Given the description of an element on the screen output the (x, y) to click on. 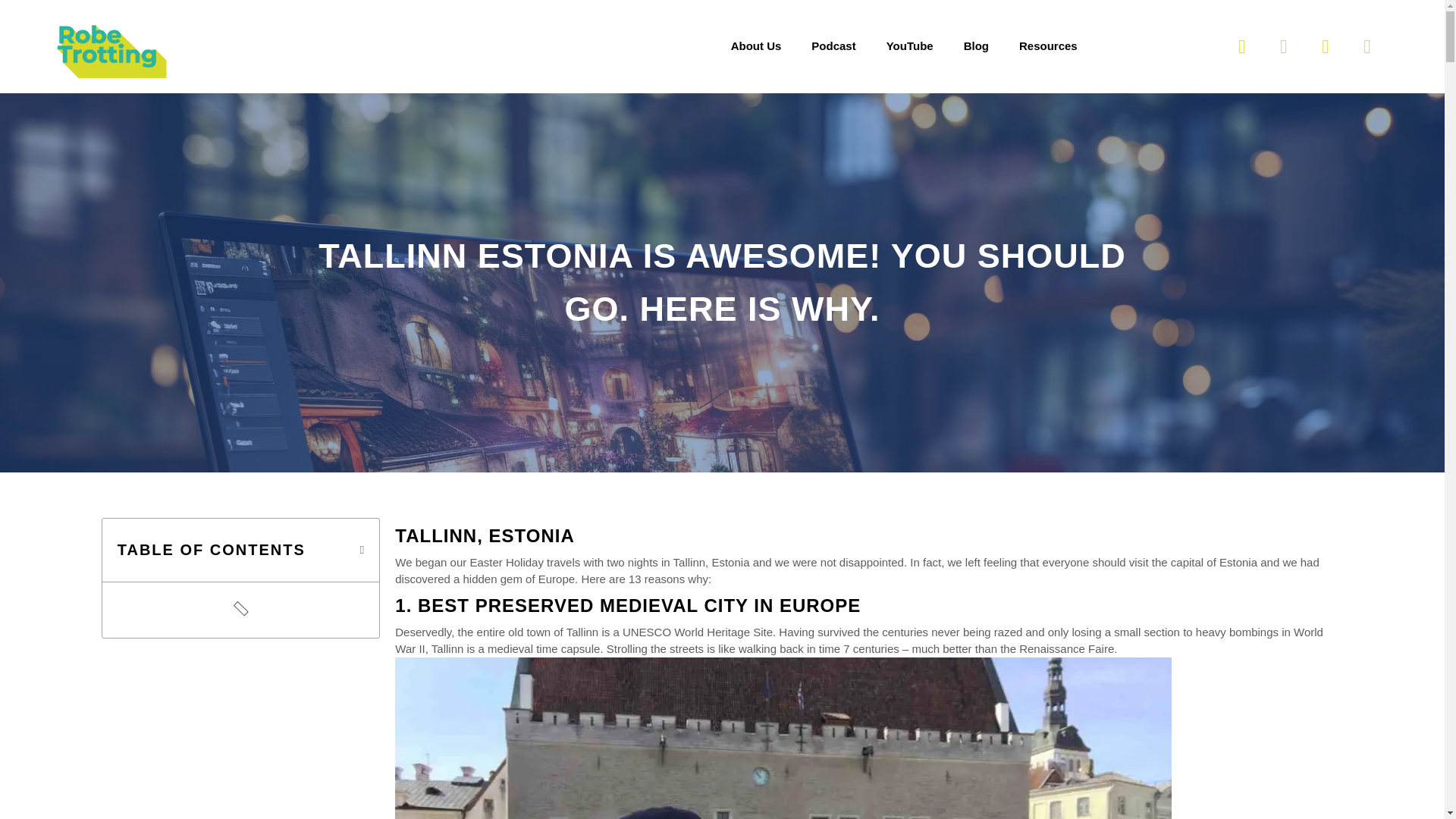
Podcast (833, 45)
Blog (976, 45)
Resources (1048, 45)
YouTube (909, 45)
About Us (756, 45)
